Given the description of an element on the screen output the (x, y) to click on. 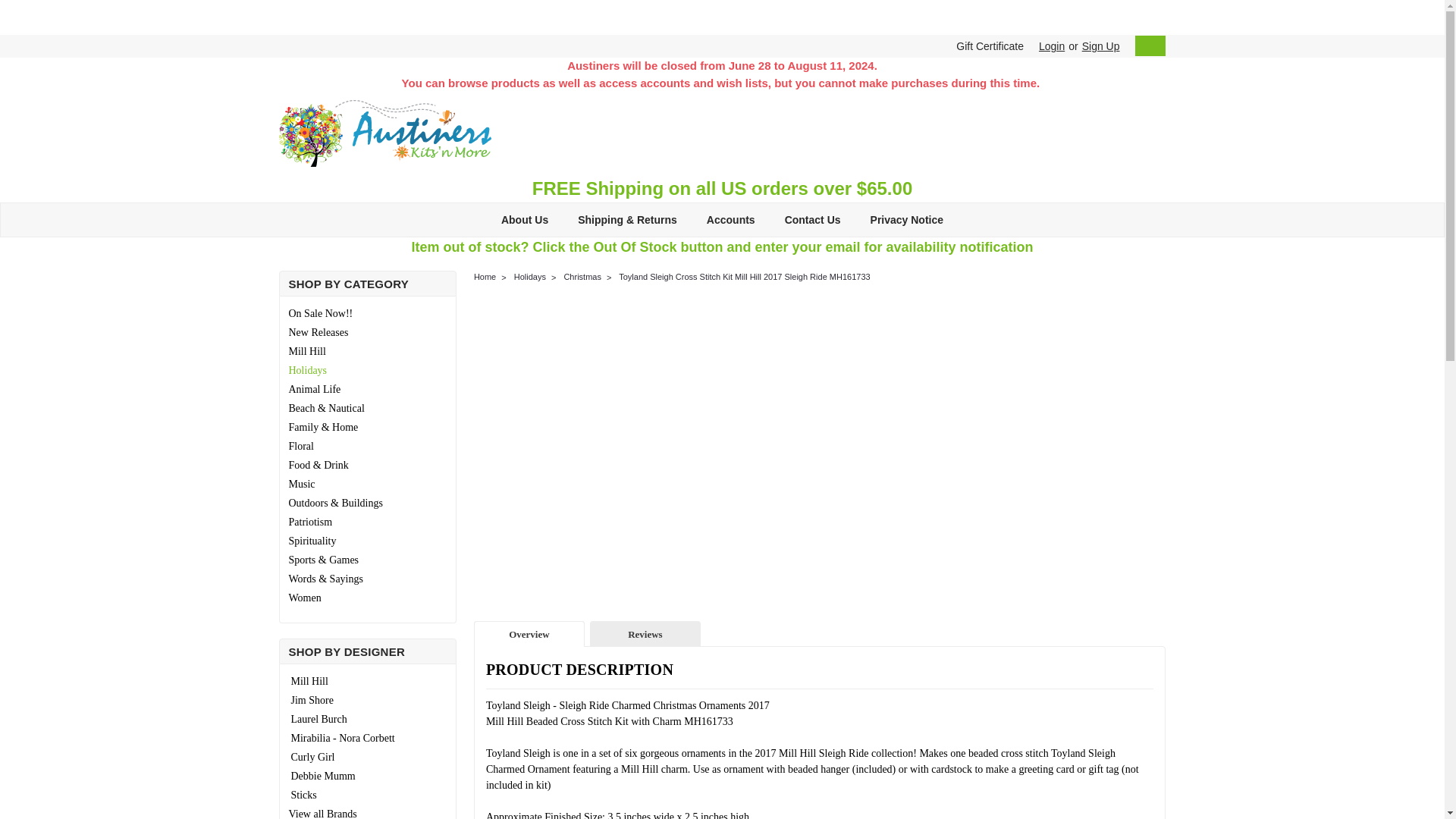
Sign Up (1098, 46)
Gift Certificate (986, 46)
Austiners Kits 'n More (385, 133)
Login (1051, 46)
